Given the description of an element on the screen output the (x, y) to click on. 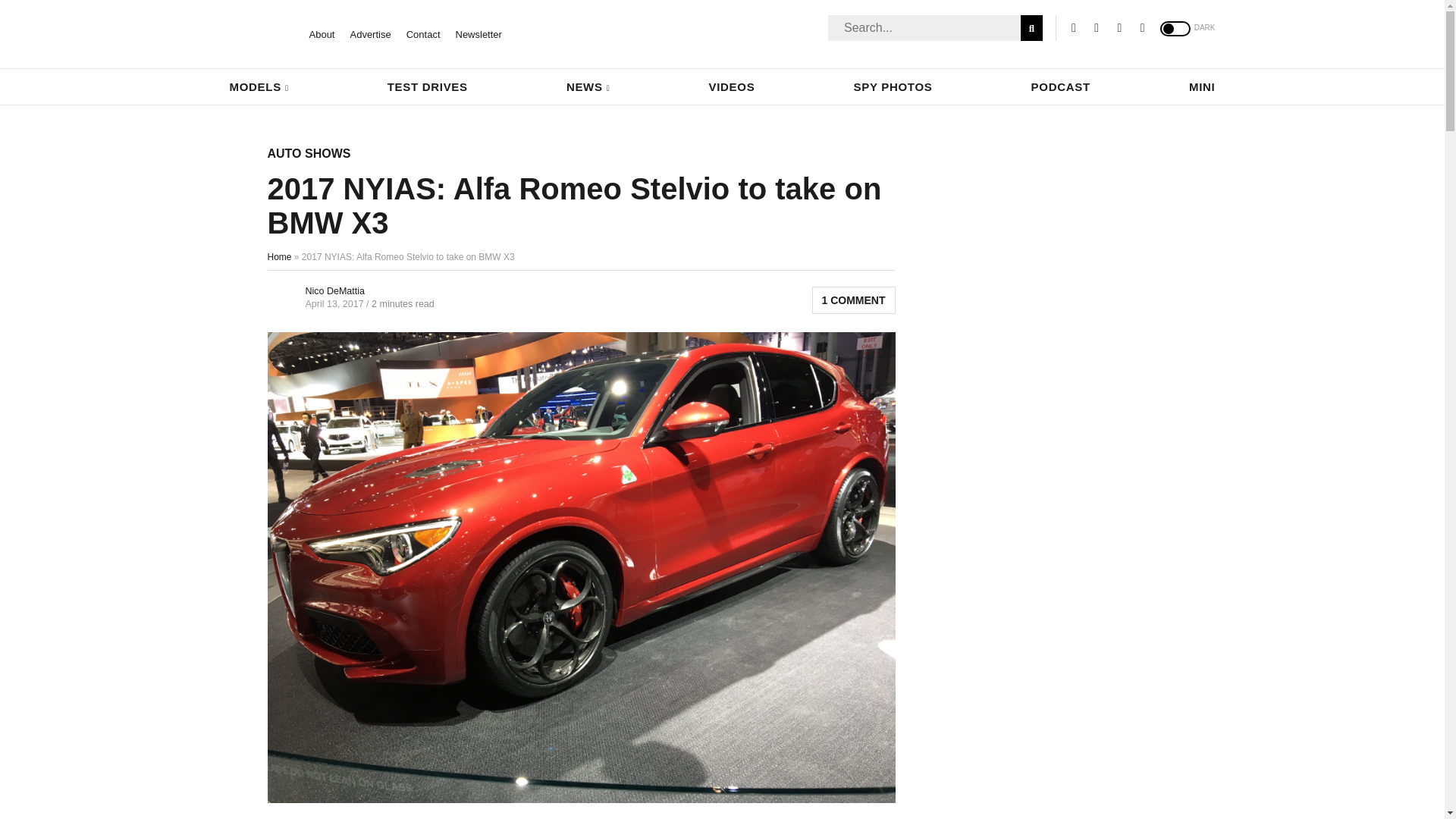
Newsletter (477, 34)
BMW BLOG (256, 34)
Nico DeMattia (334, 290)
MODELS (258, 86)
Contact (423, 34)
About (321, 34)
Advertise (369, 34)
